Given the description of an element on the screen output the (x, y) to click on. 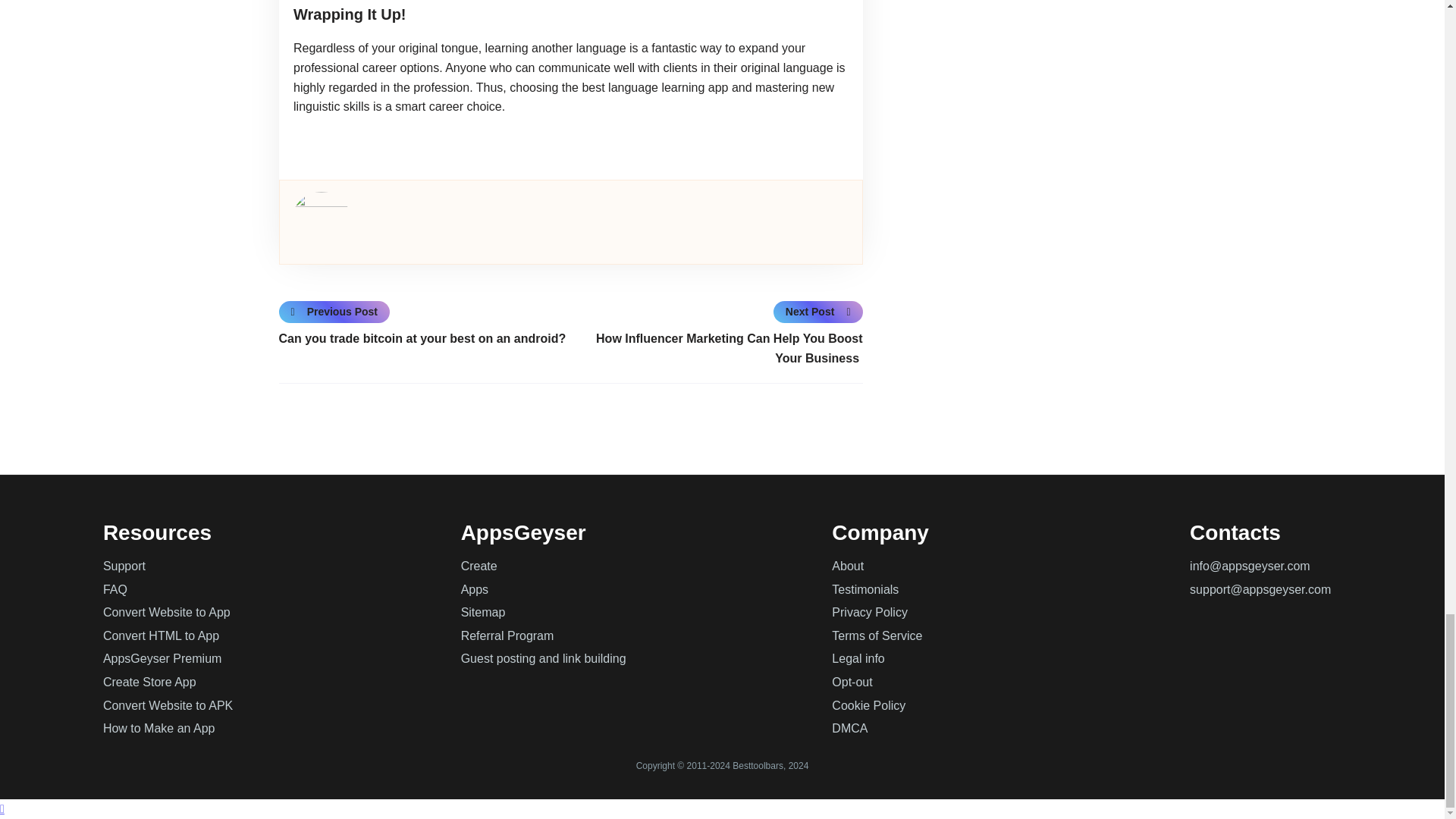
AppsGeyser Premium (162, 658)
Convert Website to App (166, 612)
How Influencer Marketing Can Help You Boost Your Business  (715, 348)
Create Store App (149, 681)
Can you trade bitcoin at your best on an android? (424, 338)
FAQ (115, 589)
Convert HTML to App (161, 635)
Previous Post (334, 311)
Next Post (818, 311)
Support (124, 565)
